Given the description of an element on the screen output the (x, y) to click on. 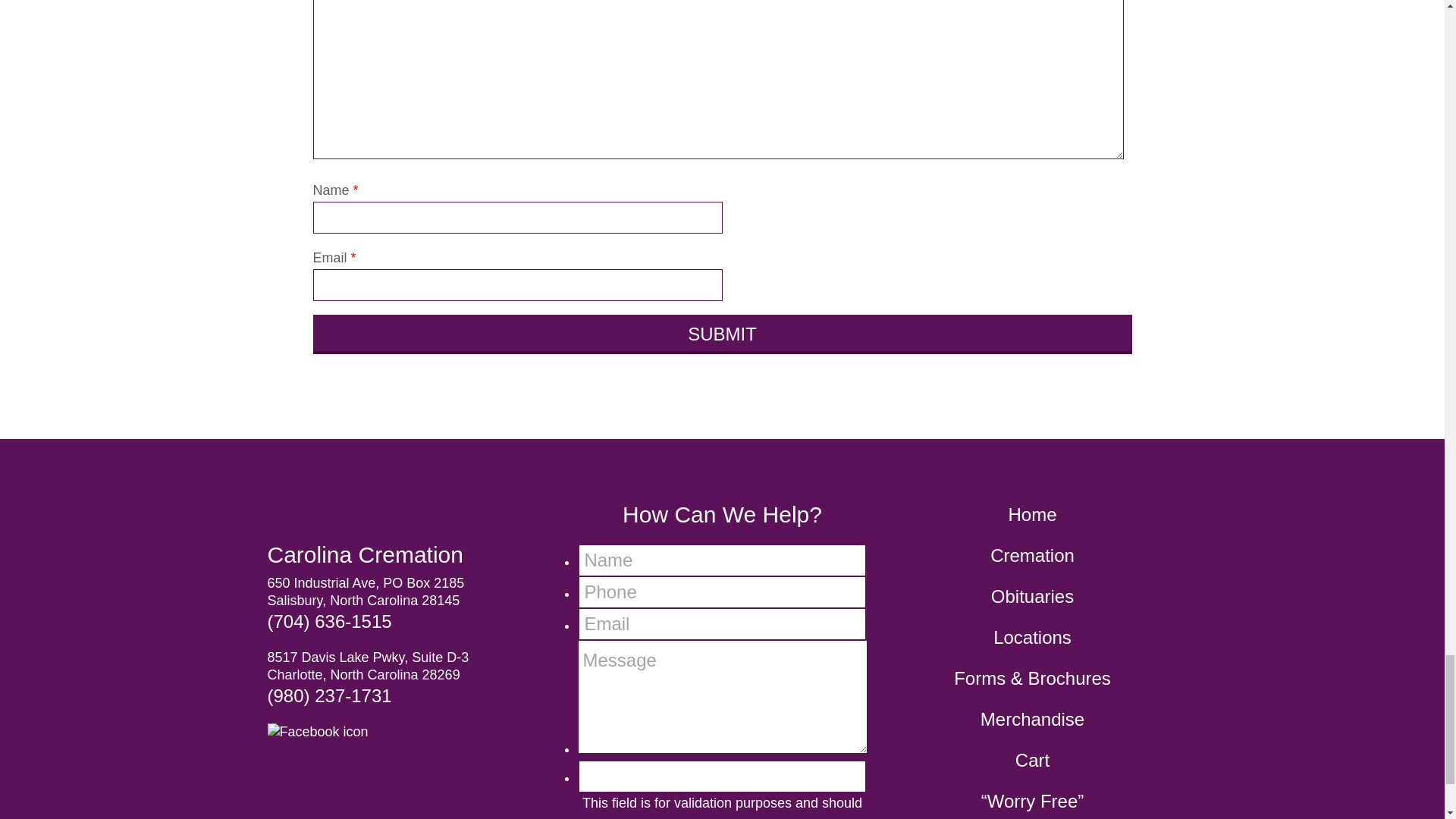
Submit (722, 333)
Submit (722, 333)
Visit Us on Facebook (322, 730)
